Given the description of an element on the screen output the (x, y) to click on. 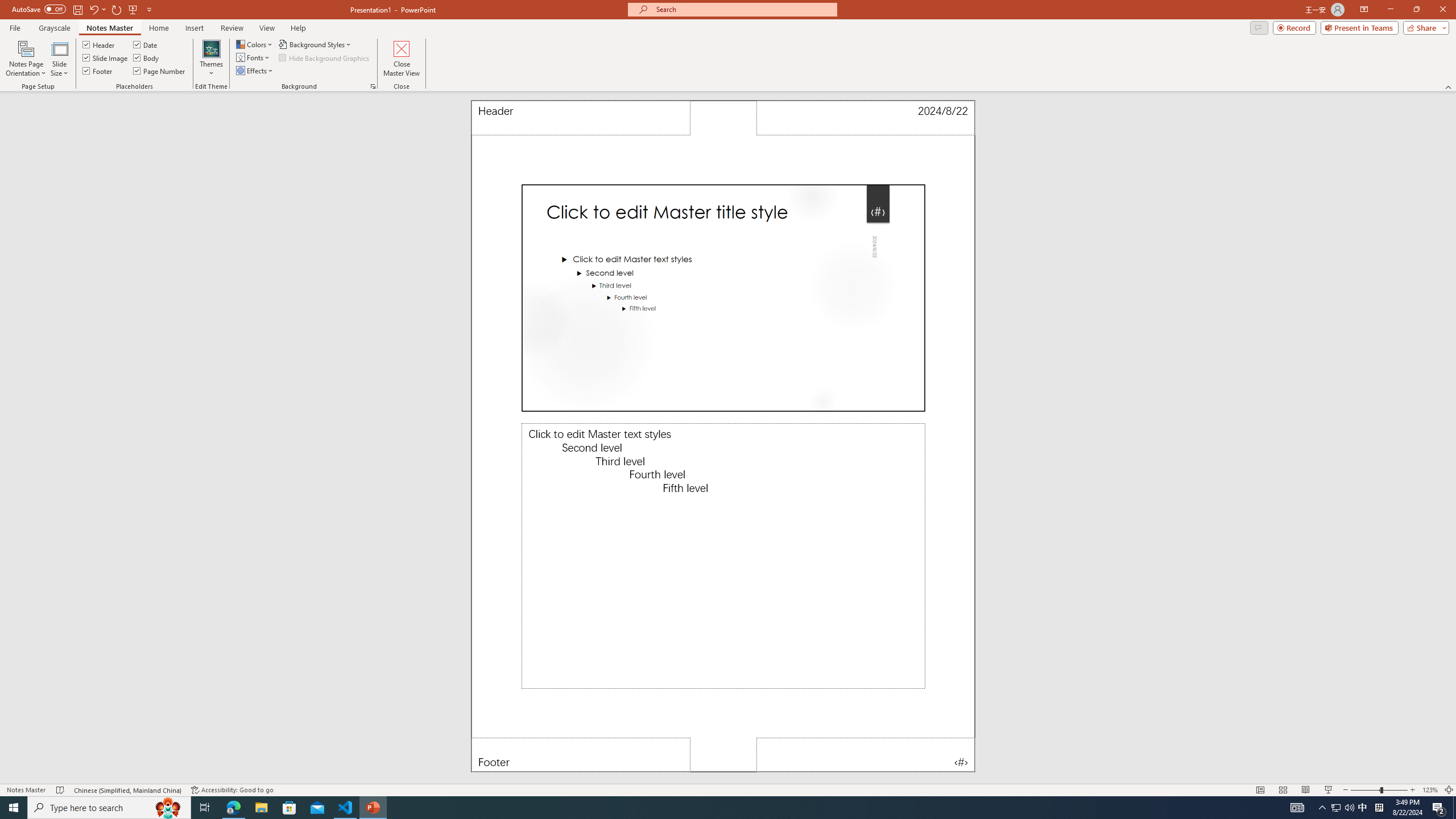
Close Master View (400, 58)
Date (146, 44)
Fonts (253, 56)
Slide Notes (723, 555)
